Given the description of an element on the screen output the (x, y) to click on. 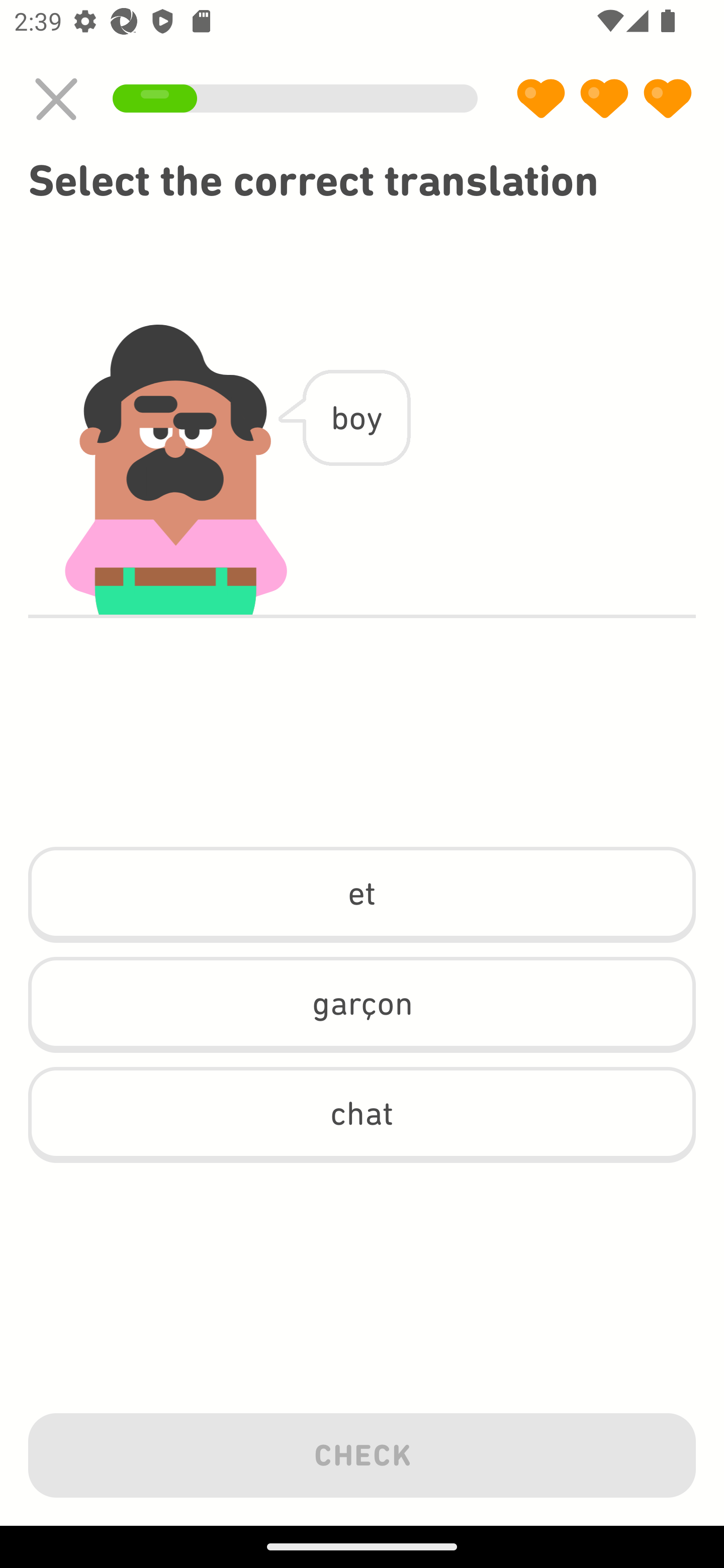
Select the correct translation (361, 180)
et (361, 894)
garçon (361, 1004)
chat (361, 1114)
CHECK (361, 1451)
